Given the description of an element on the screen output the (x, y) to click on. 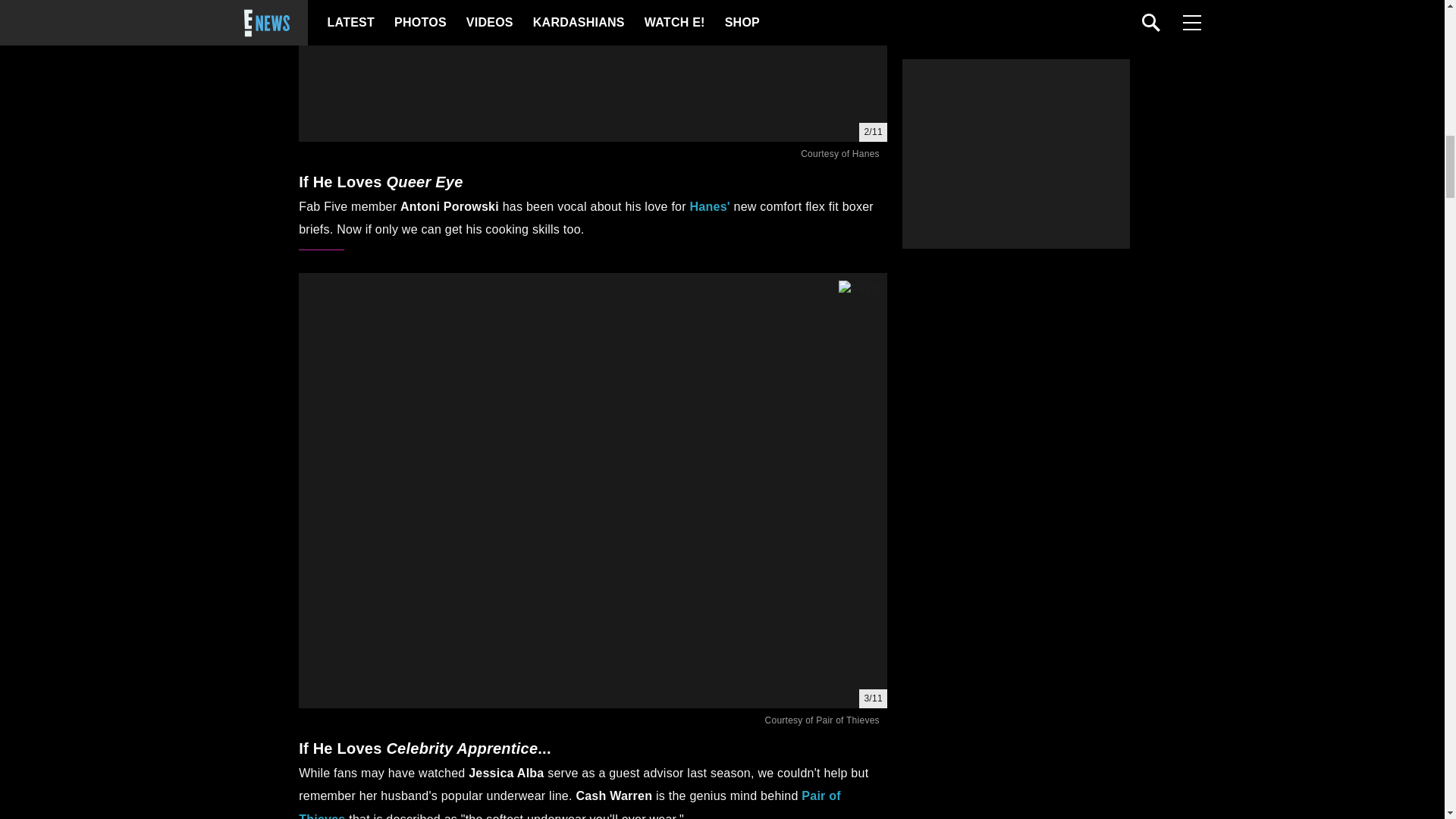
Hanes' (710, 205)
Pair of Thieves (569, 804)
